Given the description of an element on the screen output the (x, y) to click on. 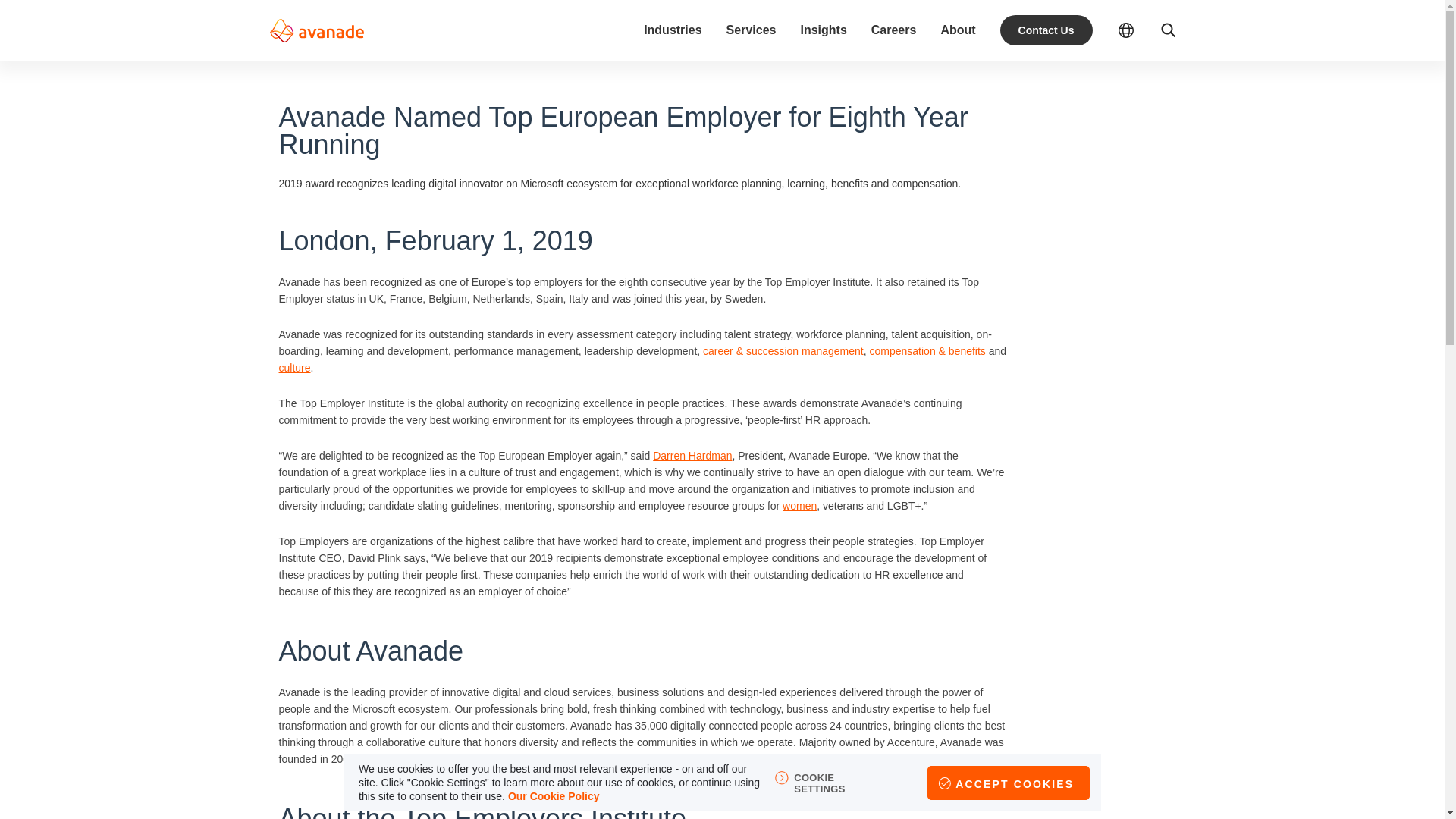
Services (751, 30)
Careers (893, 30)
Industries (672, 30)
Language Selector (1125, 30)
Insights (822, 30)
Contact Us (1046, 30)
Search (1167, 30)
